Given the description of an element on the screen output the (x, y) to click on. 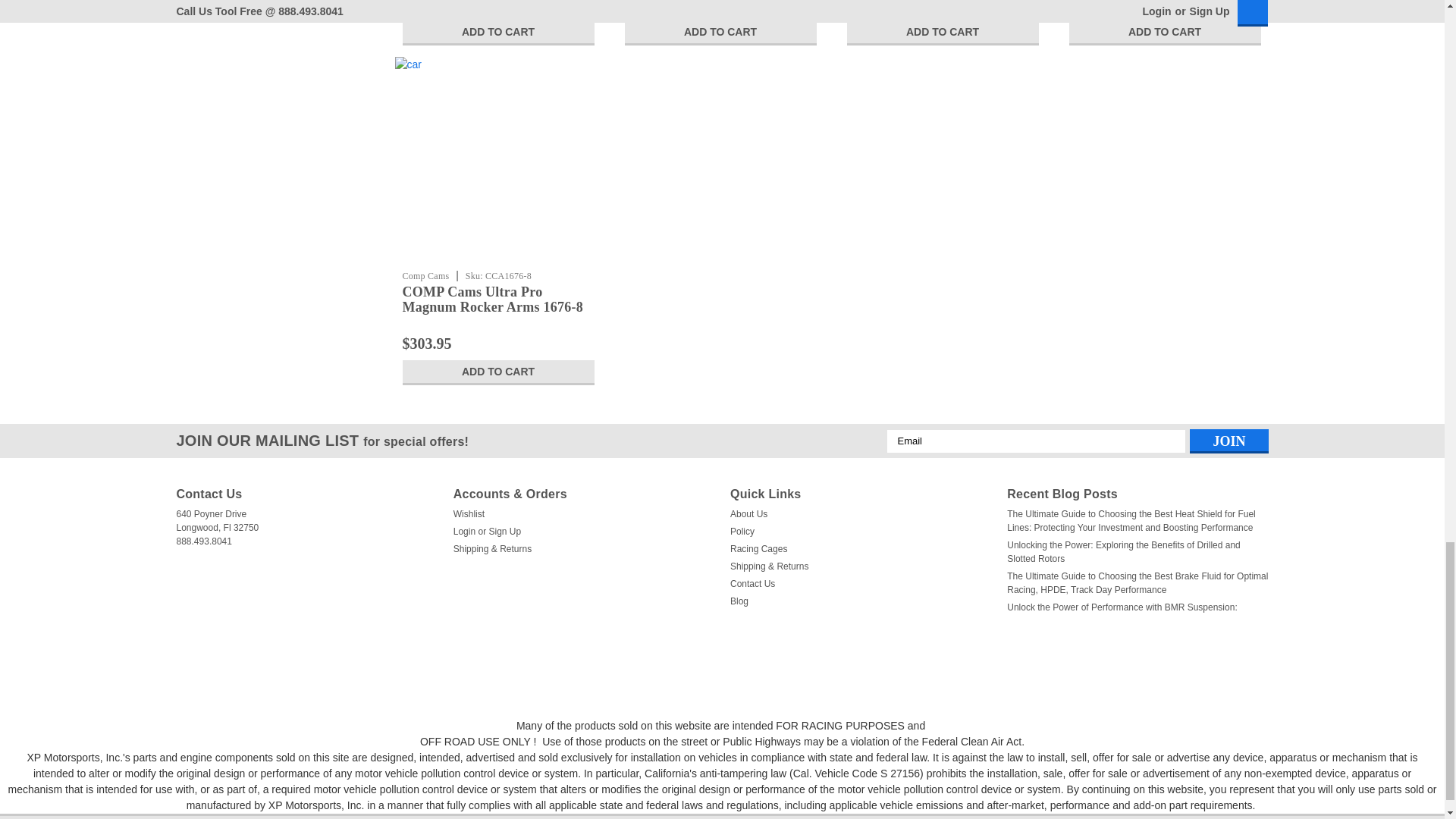
Join (1228, 441)
